Given the description of an element on the screen output the (x, y) to click on. 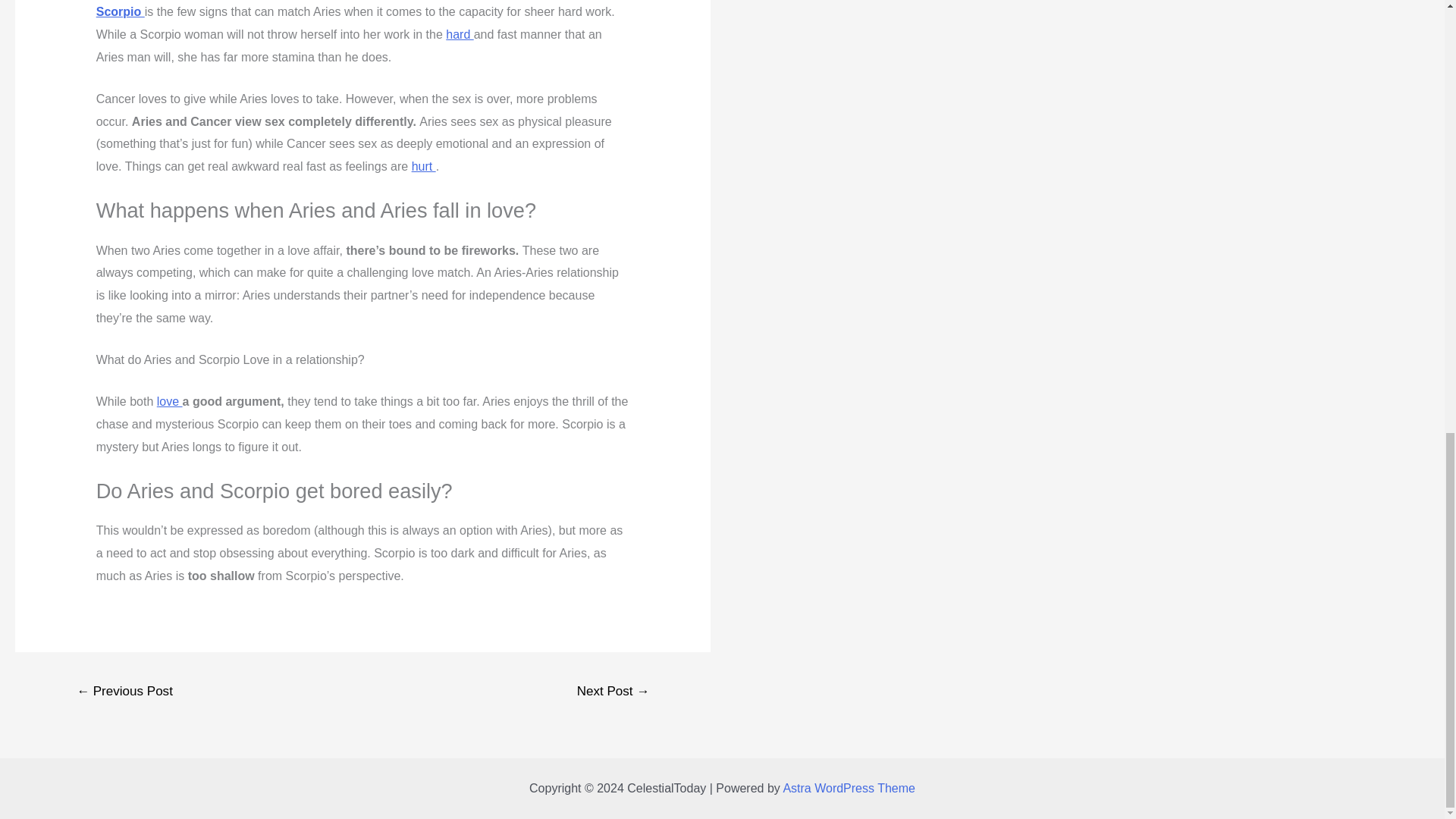
Scorpio (120, 11)
hurt (423, 165)
hard (459, 33)
Astra WordPress Theme (849, 788)
love (170, 400)
